Given the description of an element on the screen output the (x, y) to click on. 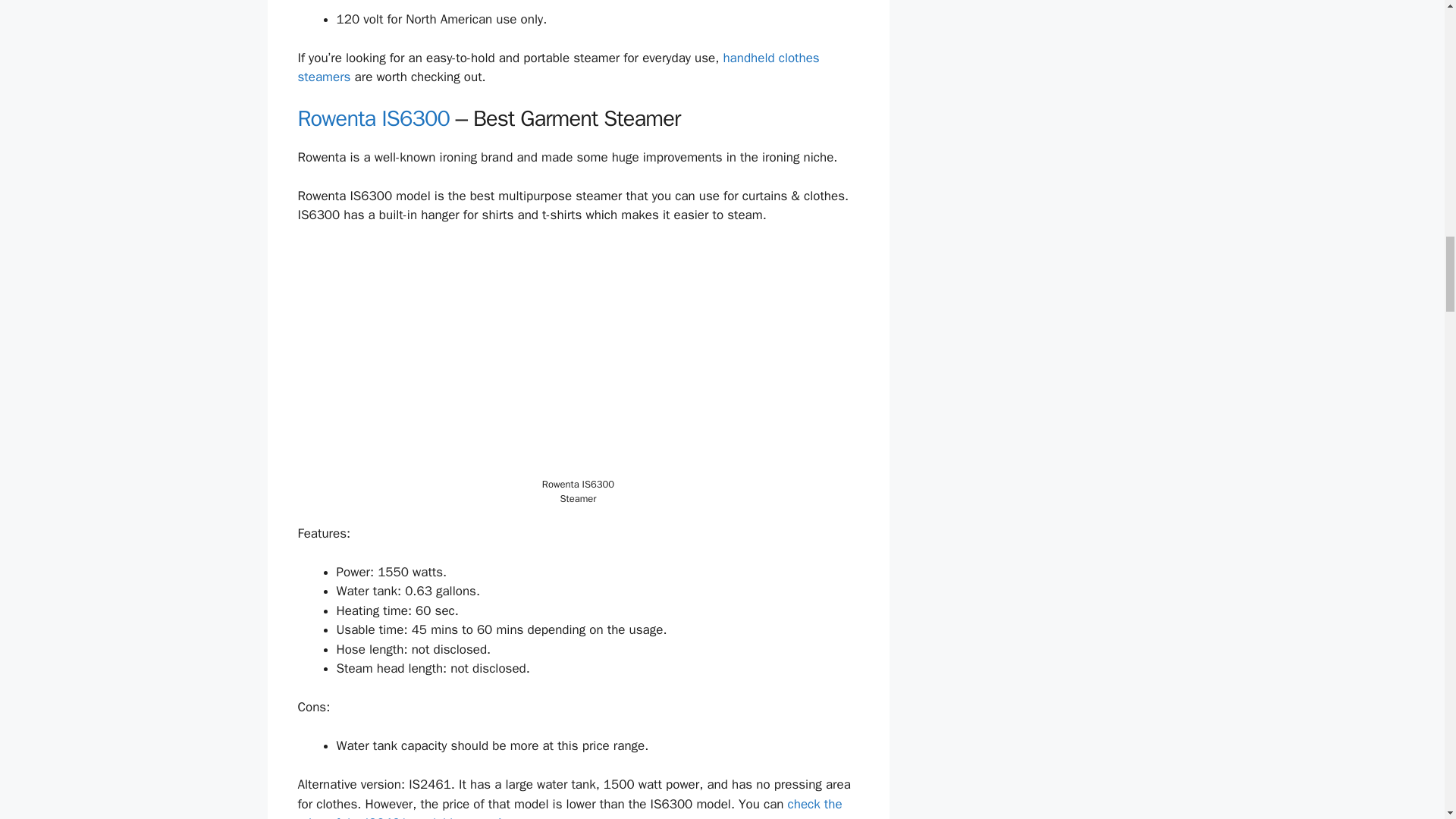
handheld clothes steamers (557, 67)
check the price of the IS2461 model here on Amazon (569, 807)
Rowenta IS6300 (373, 118)
